Given the description of an element on the screen output the (x, y) to click on. 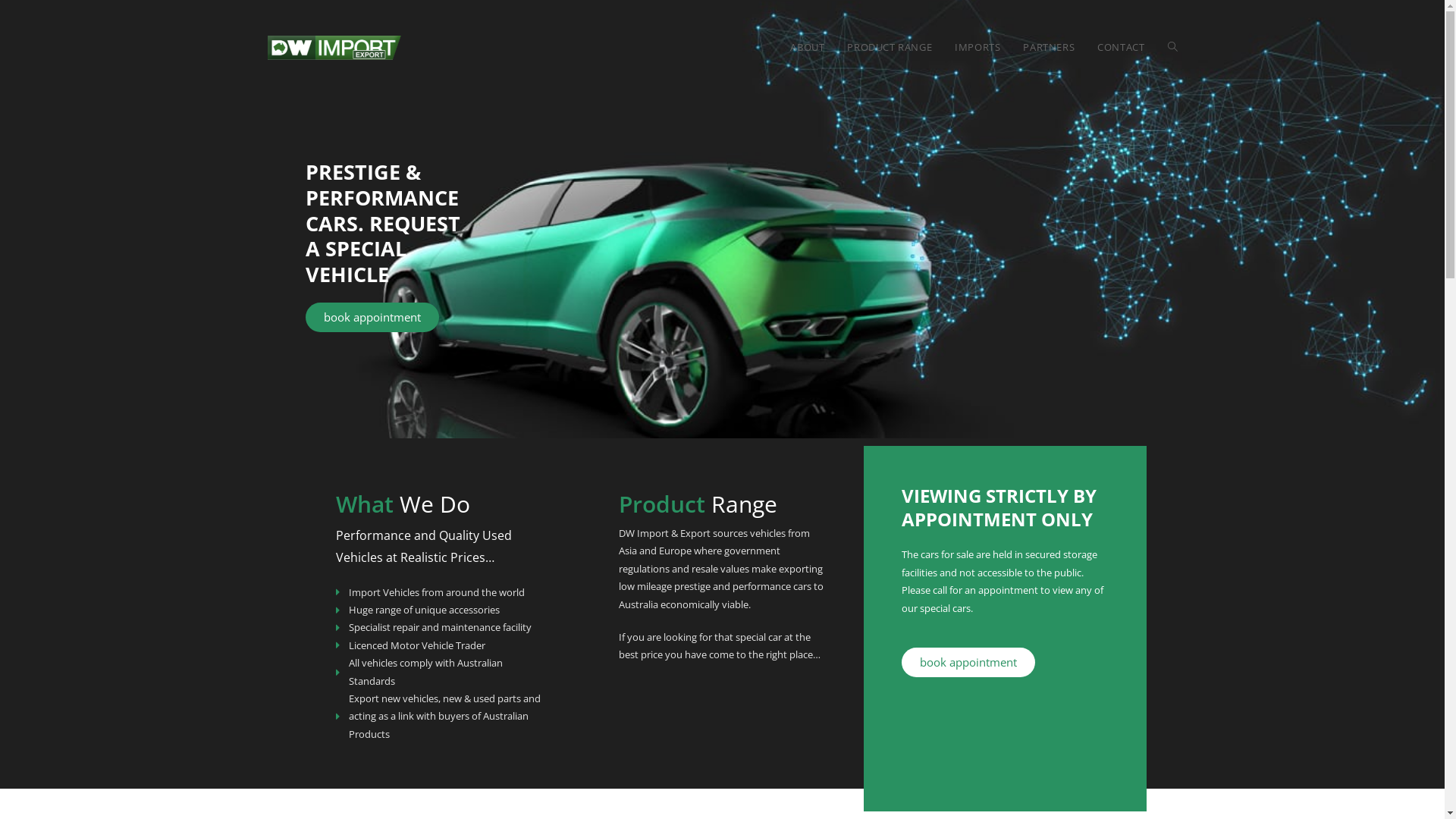
book appointment Element type: text (371, 317)
PARTNERS Element type: text (1048, 47)
ABOUT Element type: text (806, 47)
PRODUCT RANGE Element type: text (889, 47)
IMPORTS Element type: text (977, 47)
book appointment Element type: text (968, 662)
CONTACT Element type: text (1120, 47)
